Given the description of an element on the screen output the (x, y) to click on. 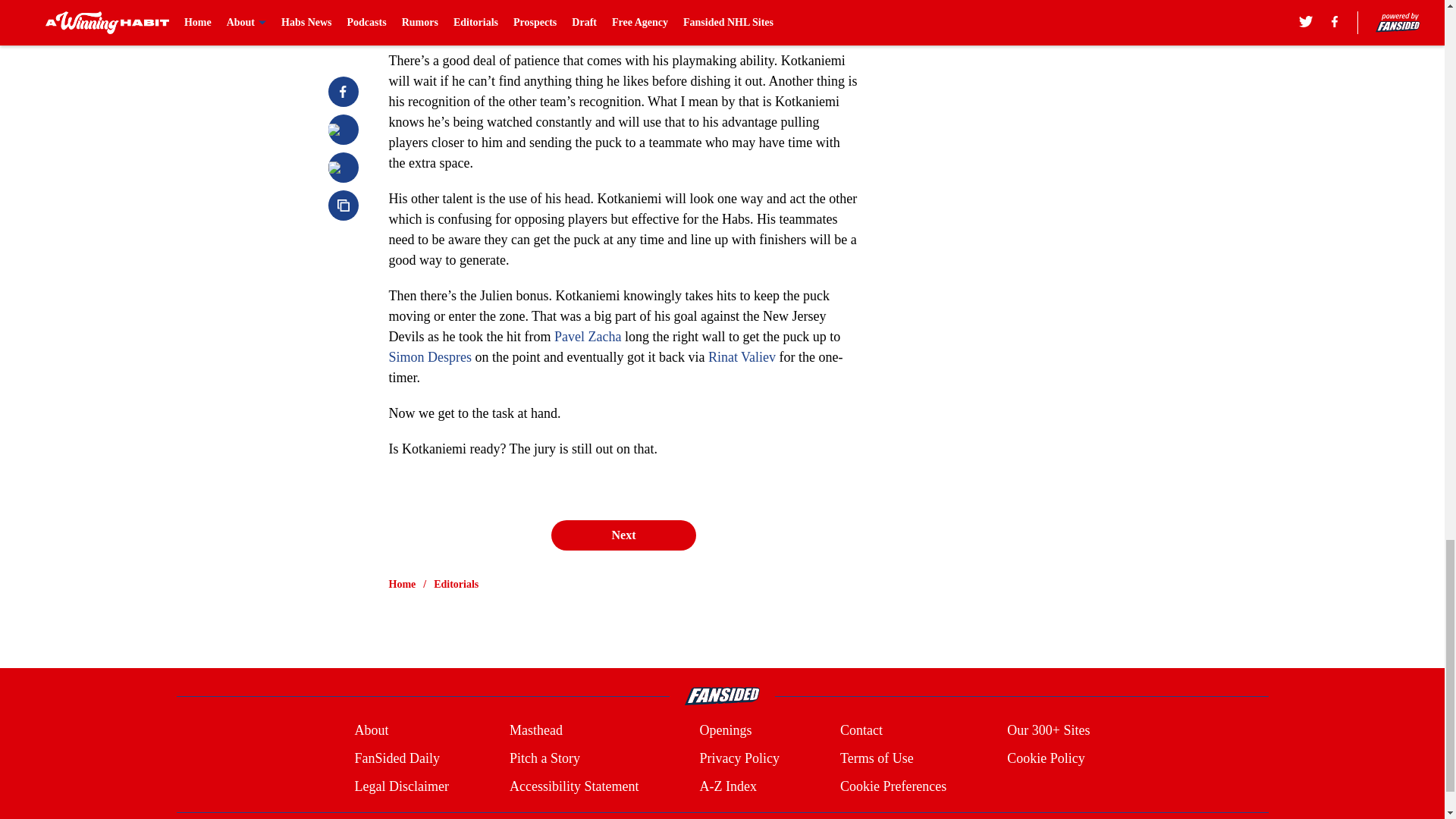
Simon Despres (429, 356)
Pavel Zacha (587, 336)
Home (401, 584)
Editorials (456, 584)
Rinat Valiev (741, 356)
Masthead (535, 730)
Montreal Canadiens: Worst Move Of The Pierre Gauthier Era (571, 6)
About (370, 730)
Next (622, 535)
Openings (724, 730)
Montreal Canadiens: Could Casey DeSmith End Up In Colorado? (582, 24)
